Given the description of an element on the screen output the (x, y) to click on. 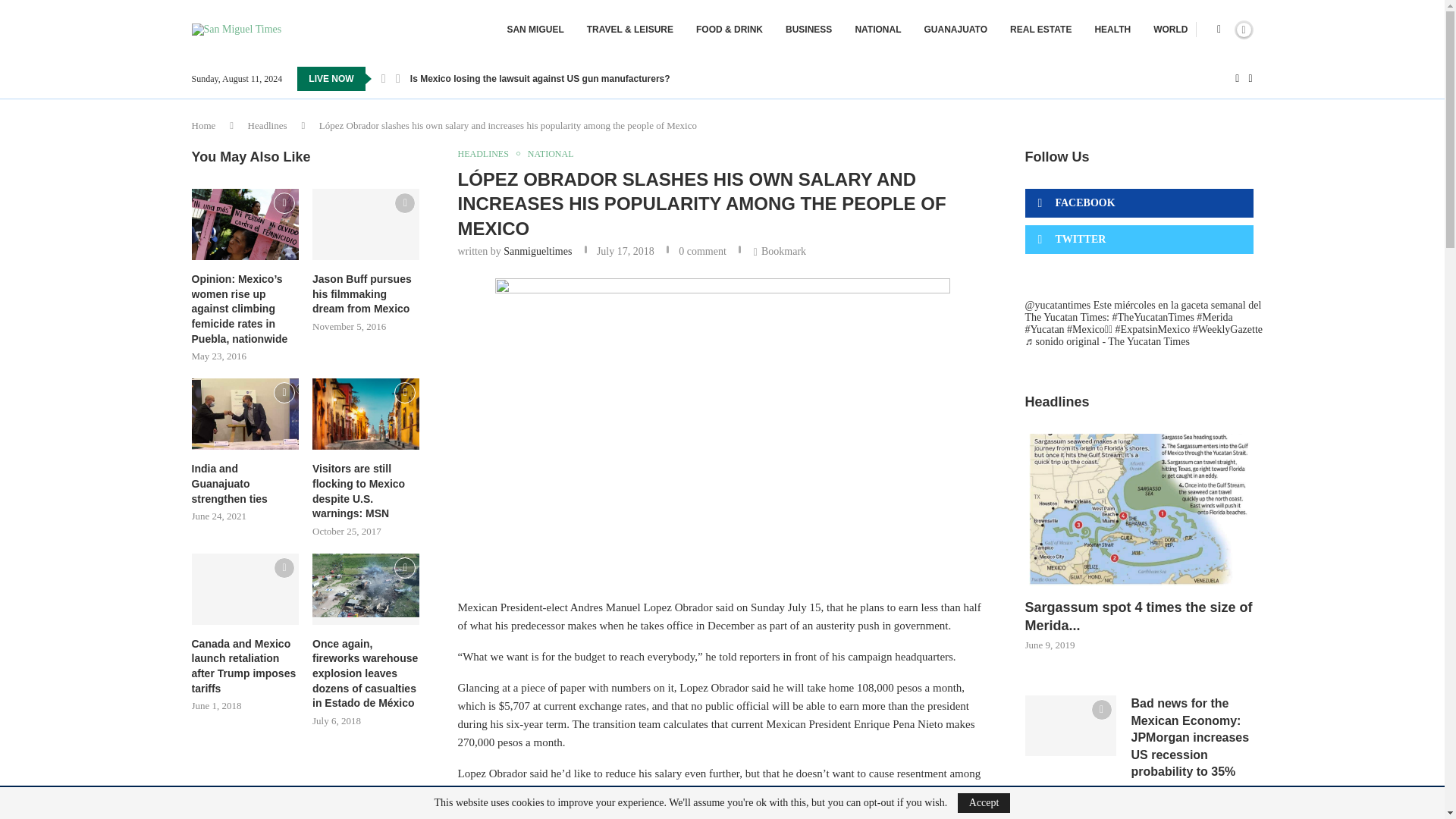
Is Mexico losing the lawsuit against US gun manufacturers? (539, 78)
BUSINESS (808, 29)
NATIONAL (877, 29)
REAL ESTATE (1040, 29)
SAN MIGUEL (534, 29)
GUANAJUATO (955, 29)
